Given the description of an element on the screen output the (x, y) to click on. 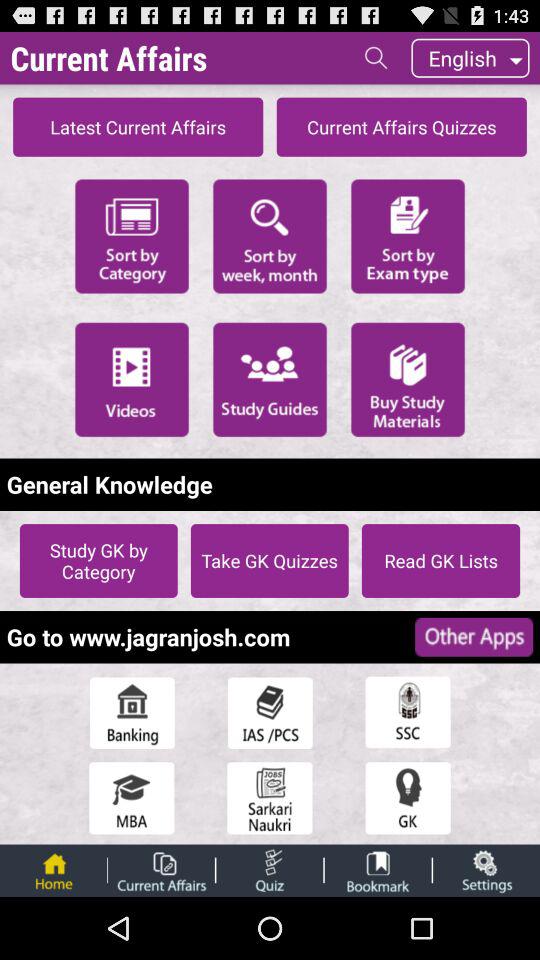
go to question session (269, 870)
